Given the description of an element on the screen output the (x, y) to click on. 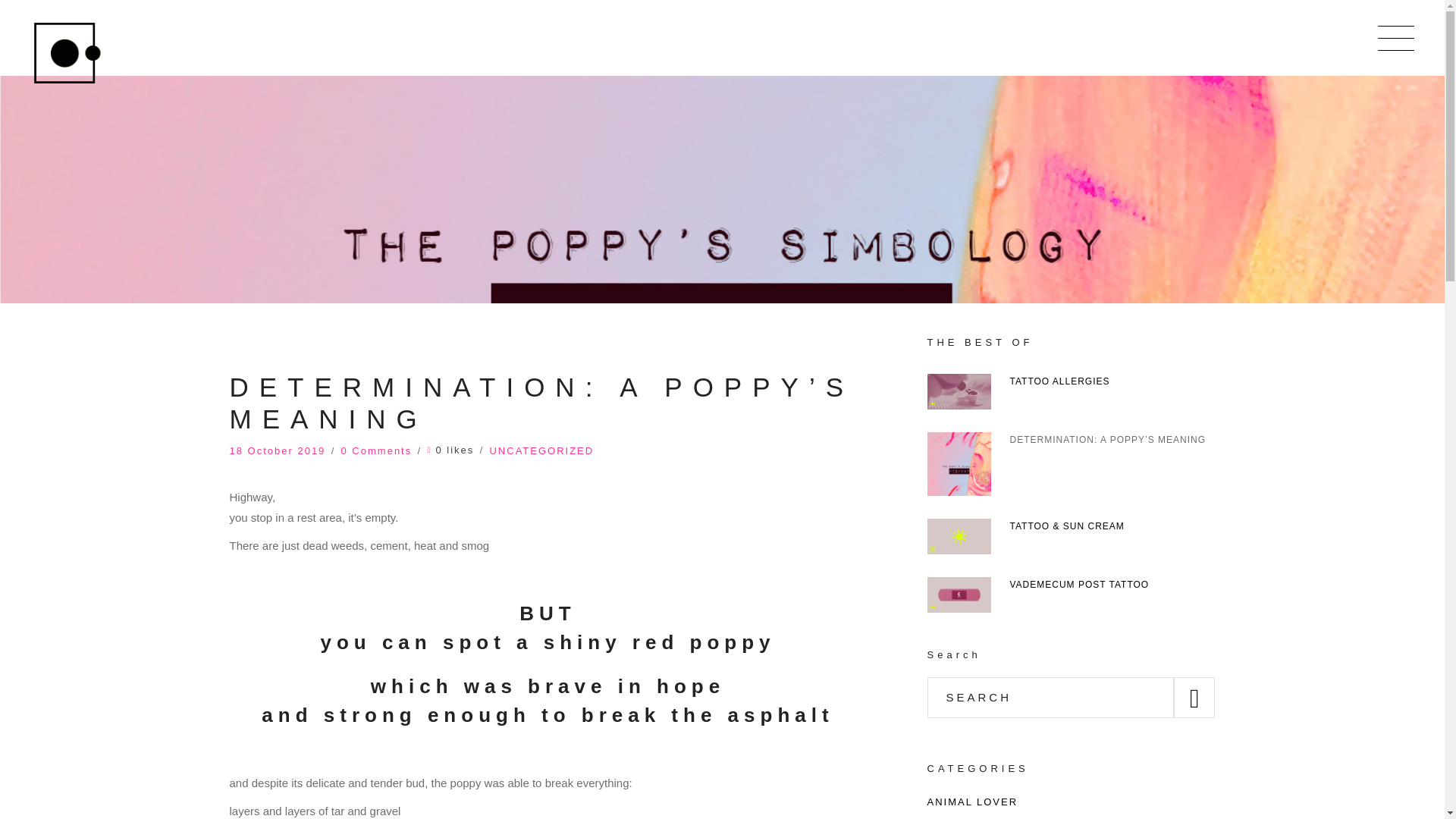
Like this (450, 449)
0 likes (450, 449)
TATTOO ALLERGIES (1059, 380)
TATTOO ALLERGIES (958, 391)
vademecum post tattoo (958, 594)
18 October 2019 (276, 450)
UNCATEGORIZED (541, 450)
0 Comments (376, 450)
